Given the description of an element on the screen output the (x, y) to click on. 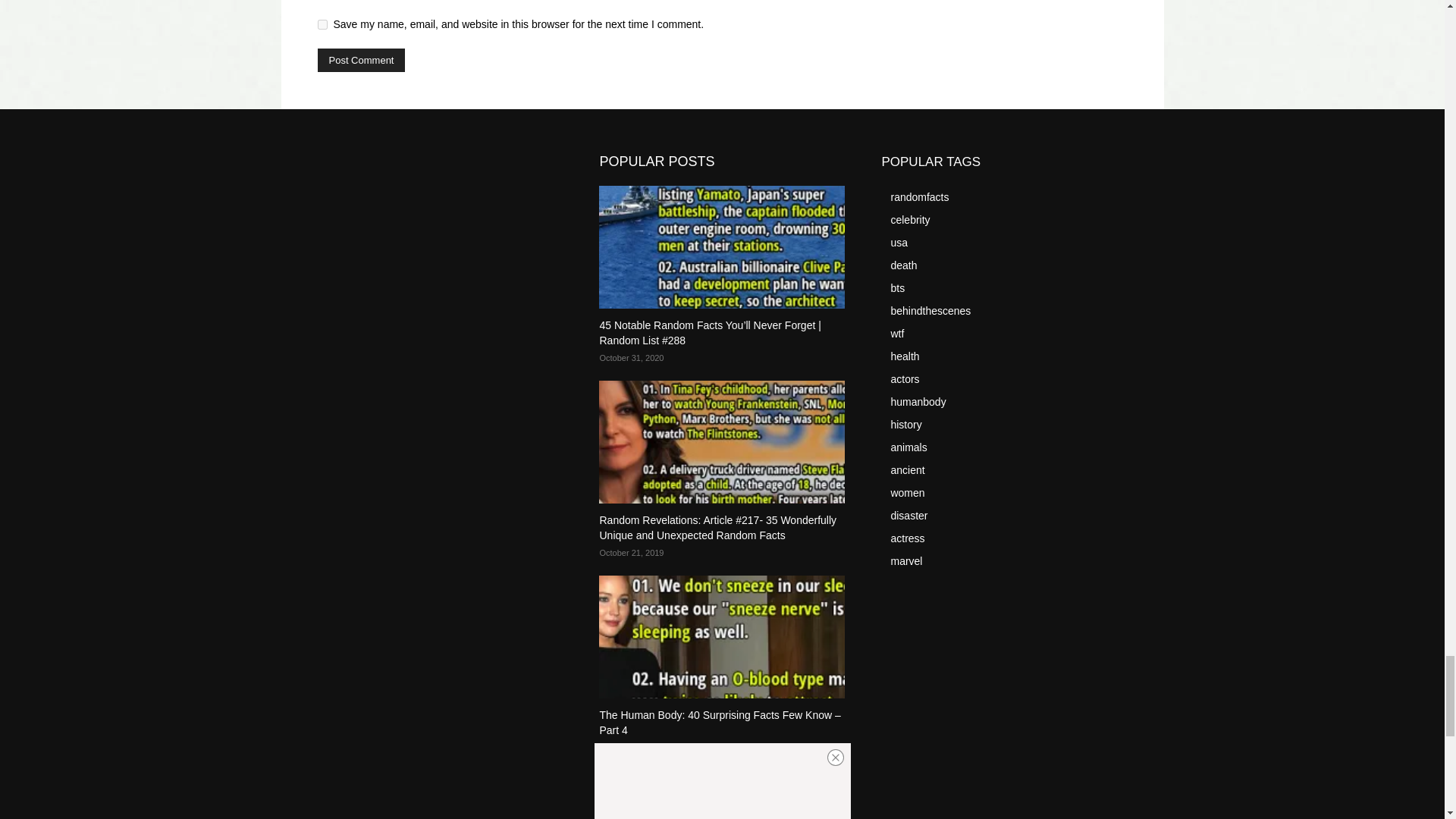
yes (321, 24)
Post Comment (360, 60)
